Given the description of an element on the screen output the (x, y) to click on. 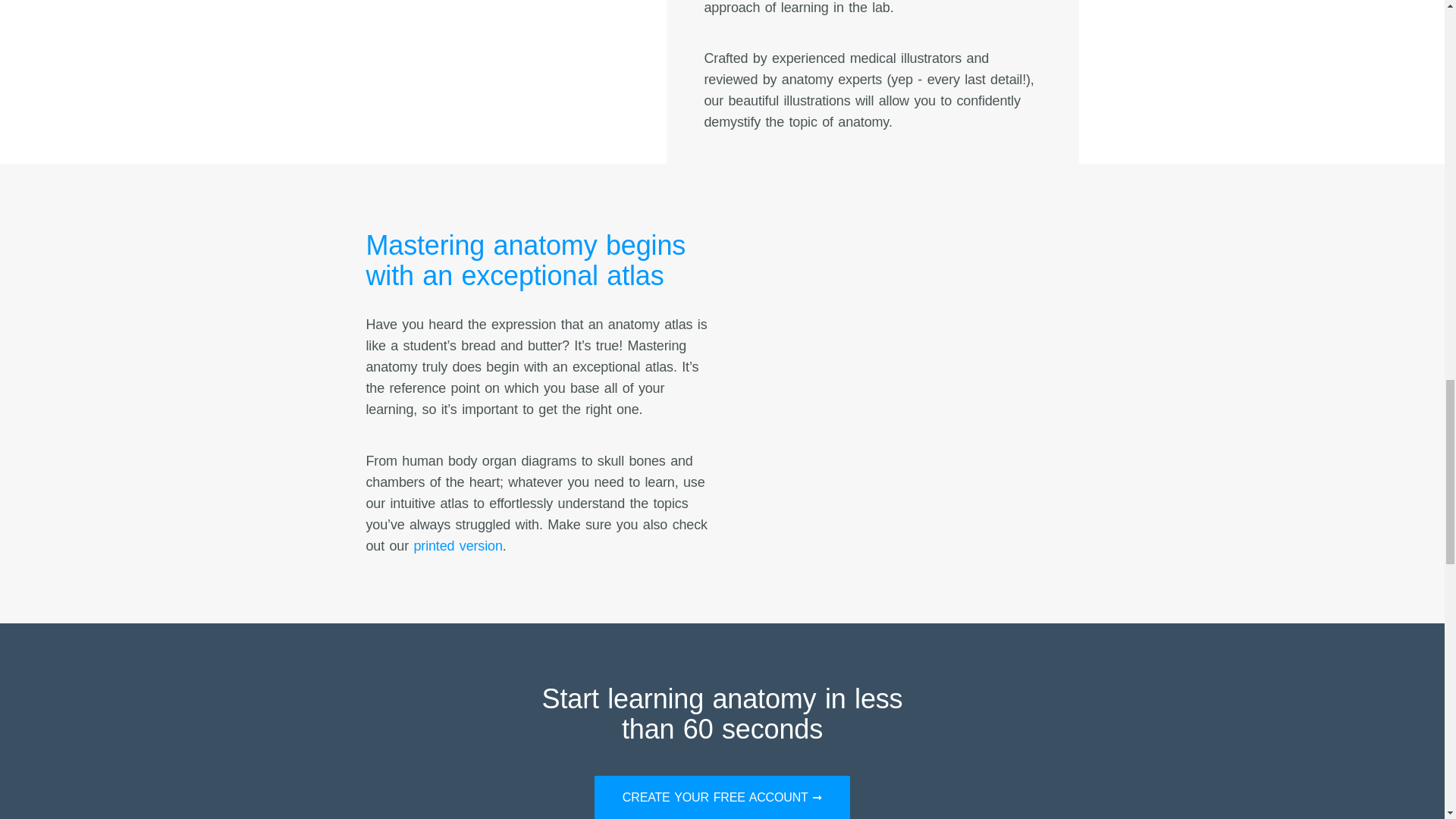
printed version (457, 545)
